Given the description of an element on the screen output the (x, y) to click on. 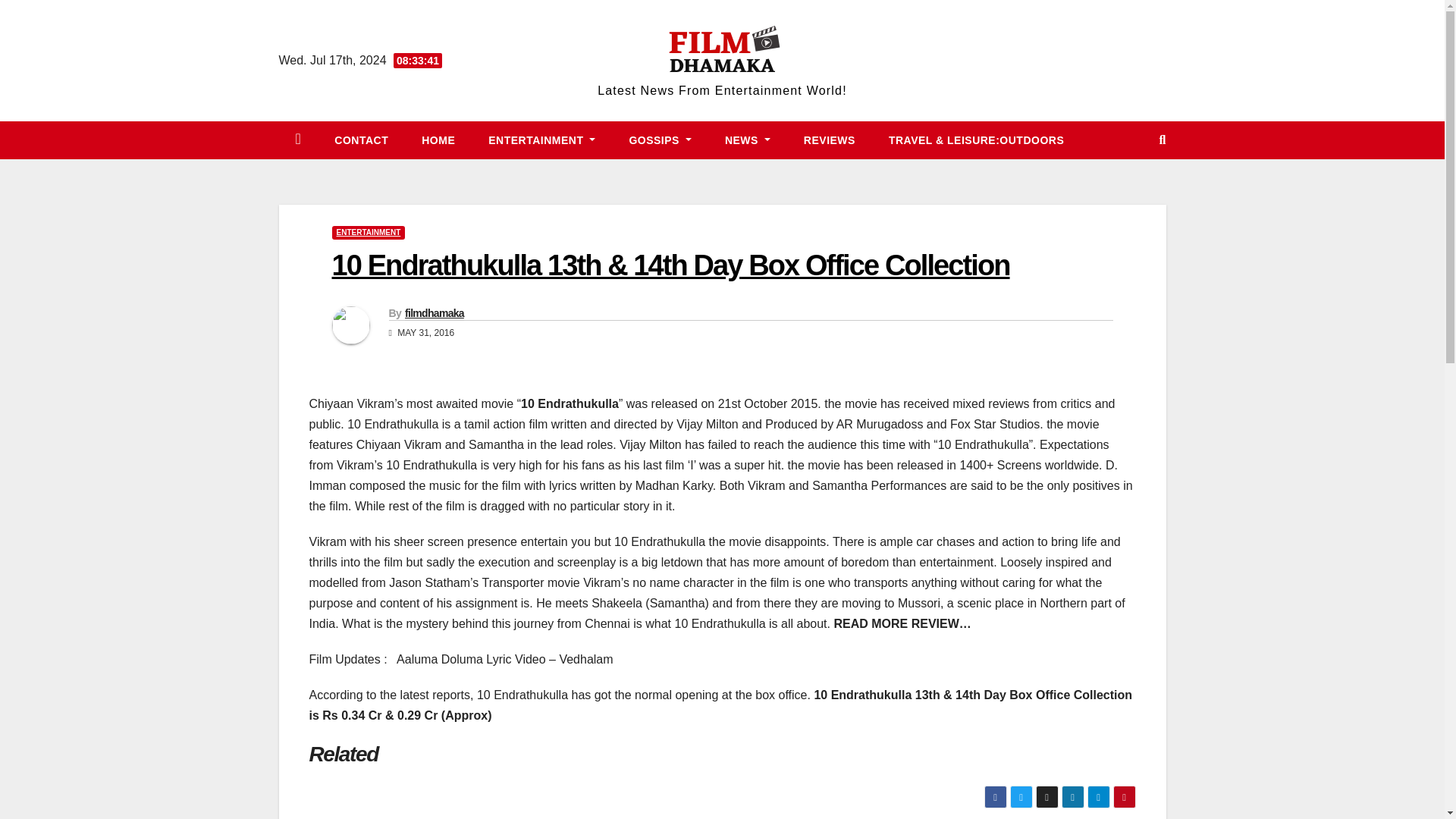
REVIEWS (829, 139)
News (747, 139)
ENTERTAINMENT (541, 139)
CONTACT (360, 139)
Entertainment (541, 139)
filmdhamaka (434, 313)
NEWS (747, 139)
Gossips (659, 139)
ENTERTAINMENT (368, 232)
Reviews (829, 139)
GOSSIPS (659, 139)
Contact (360, 139)
Home (437, 139)
HOME (437, 139)
